Given the description of an element on the screen output the (x, y) to click on. 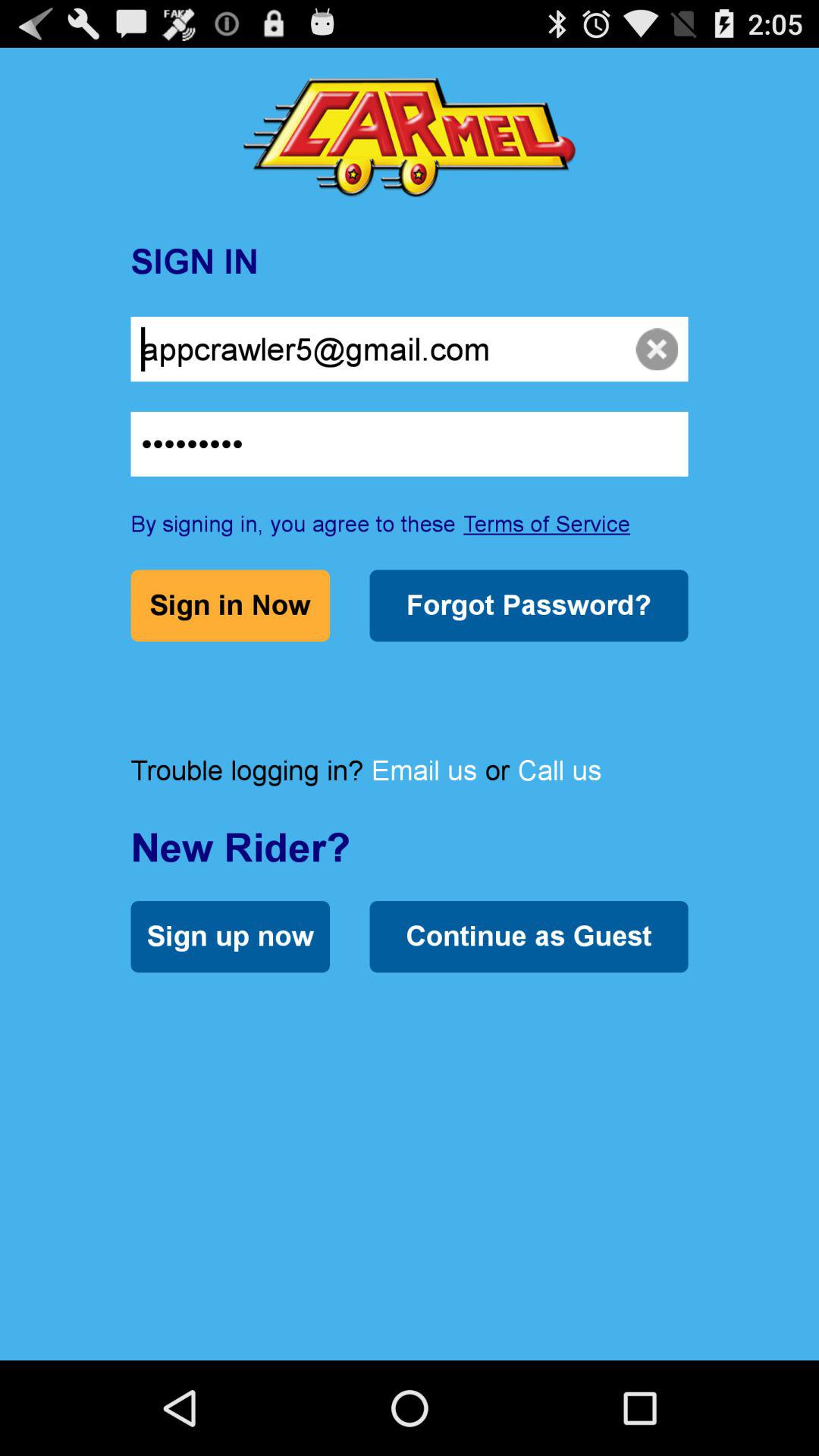
flip to call us  item (559, 770)
